Given the description of an element on the screen output the (x, y) to click on. 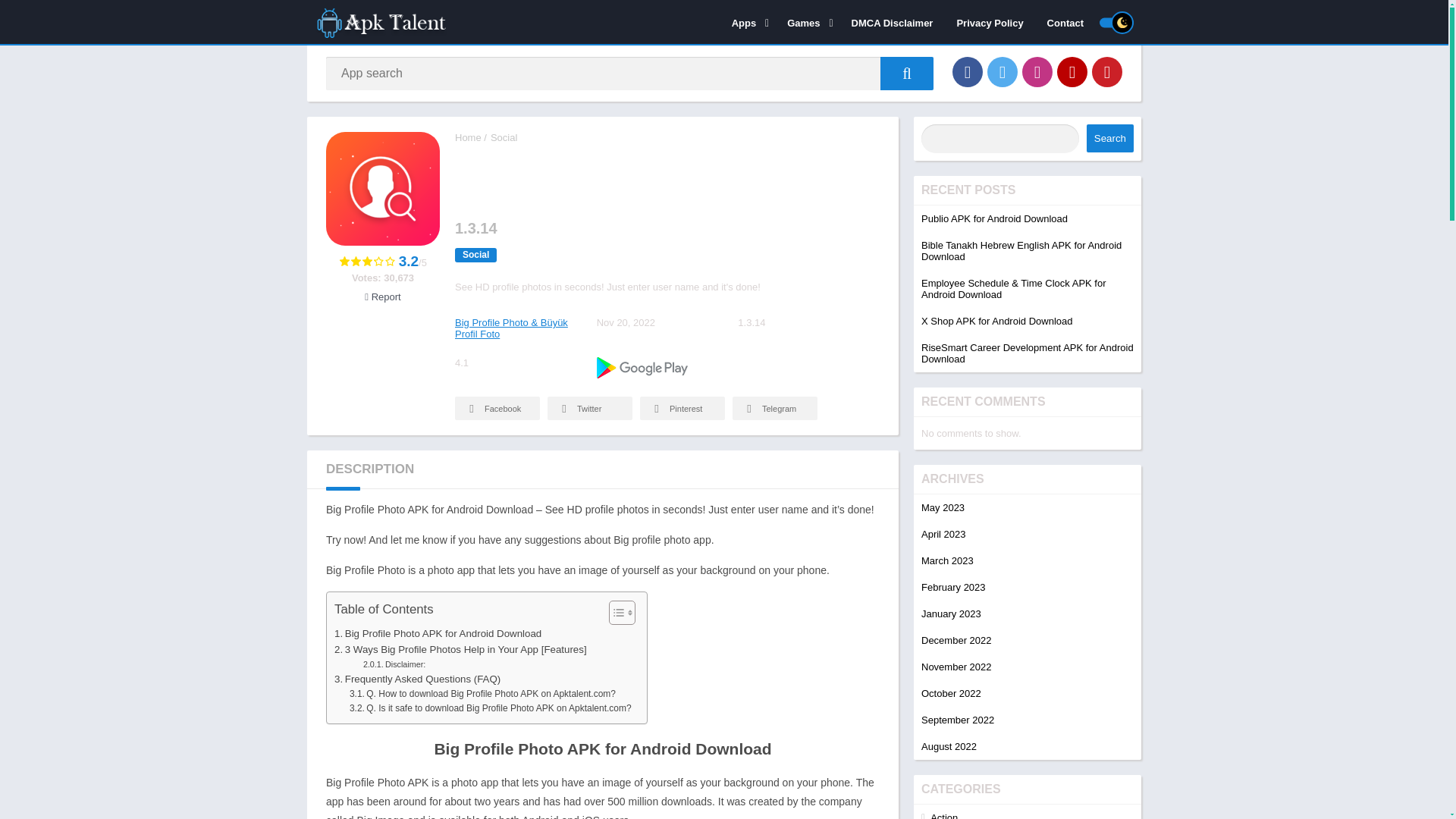
Privacy Policy (988, 22)
Contact (1064, 22)
Instagram (1037, 71)
Disclaimer: (393, 664)
Social (475, 255)
App search (906, 73)
Facebook (967, 71)
Apps (748, 22)
Social (503, 137)
